Given the description of an element on the screen output the (x, y) to click on. 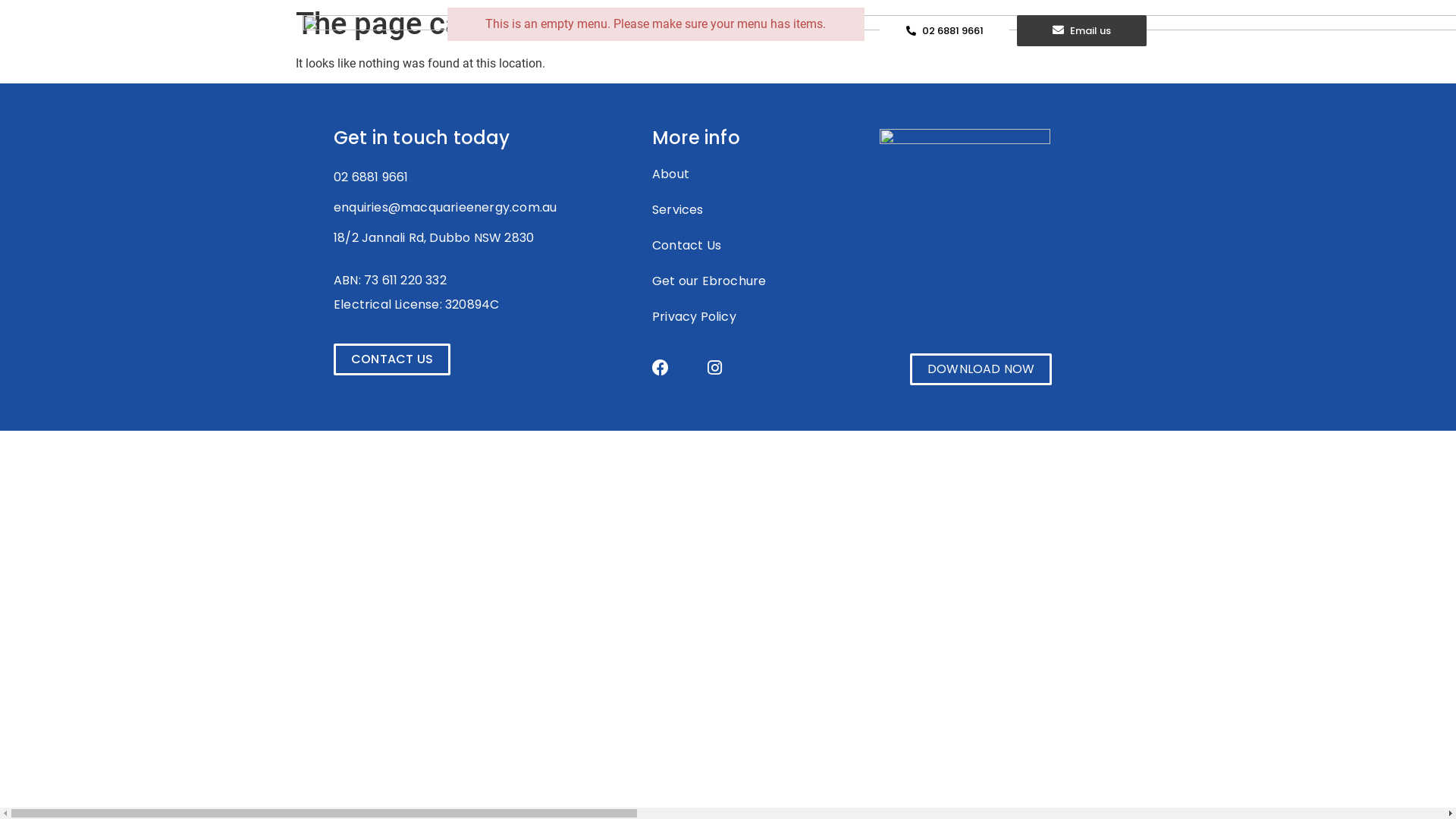
DOWNLOAD NOW Element type: text (980, 369)
Contact Us Element type: text (758, 245)
enquiries@macquarieenergy.com.au Element type: text (444, 207)
Services Element type: text (758, 209)
Get our Ebrochure Element type: text (758, 281)
About Element type: text (758, 174)
Privacy Policy Element type: text (758, 316)
Email us Element type: text (1081, 30)
02 6881 9661 Element type: text (370, 176)
CONTACT US Element type: text (391, 359)
02 6881 9661 Element type: text (944, 30)
